Given the description of an element on the screen output the (x, y) to click on. 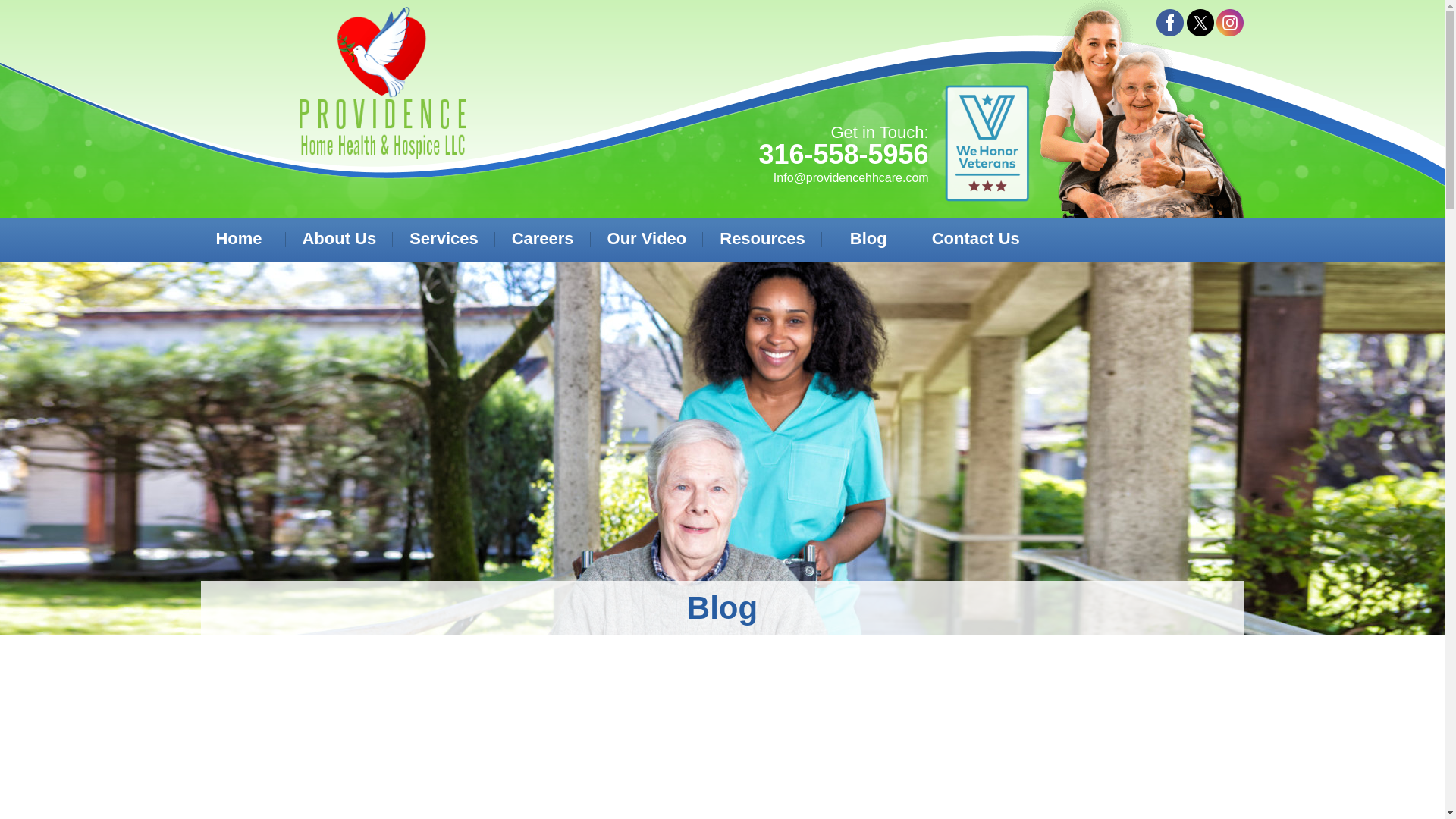
About Us (339, 239)
Home (239, 239)
Blog (868, 239)
Contact Us (975, 239)
Resources (761, 239)
Our Video (646, 239)
Careers (541, 239)
Services (443, 239)
